Given the description of an element on the screen output the (x, y) to click on. 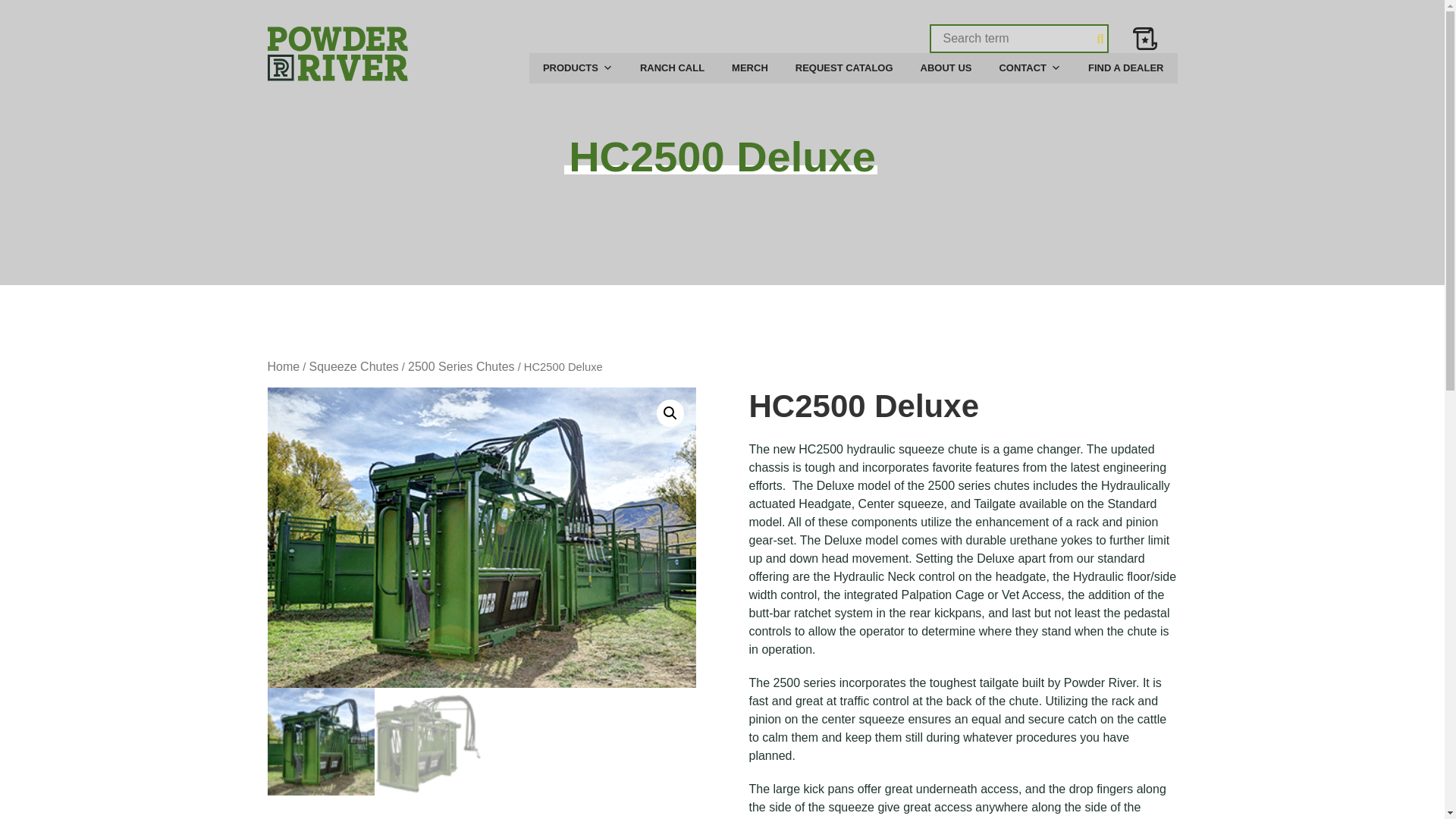
2500 Series Chutes (461, 366)
PRODUCTS (577, 68)
FIND A DEALER (1125, 68)
Squeeze Chutes (352, 366)
ABOUT US (946, 68)
Home (282, 366)
RANCH CALL (671, 68)
REQUEST CATALOG (844, 68)
MERCH (749, 68)
CONTACT (1029, 68)
